Given the description of an element on the screen output the (x, y) to click on. 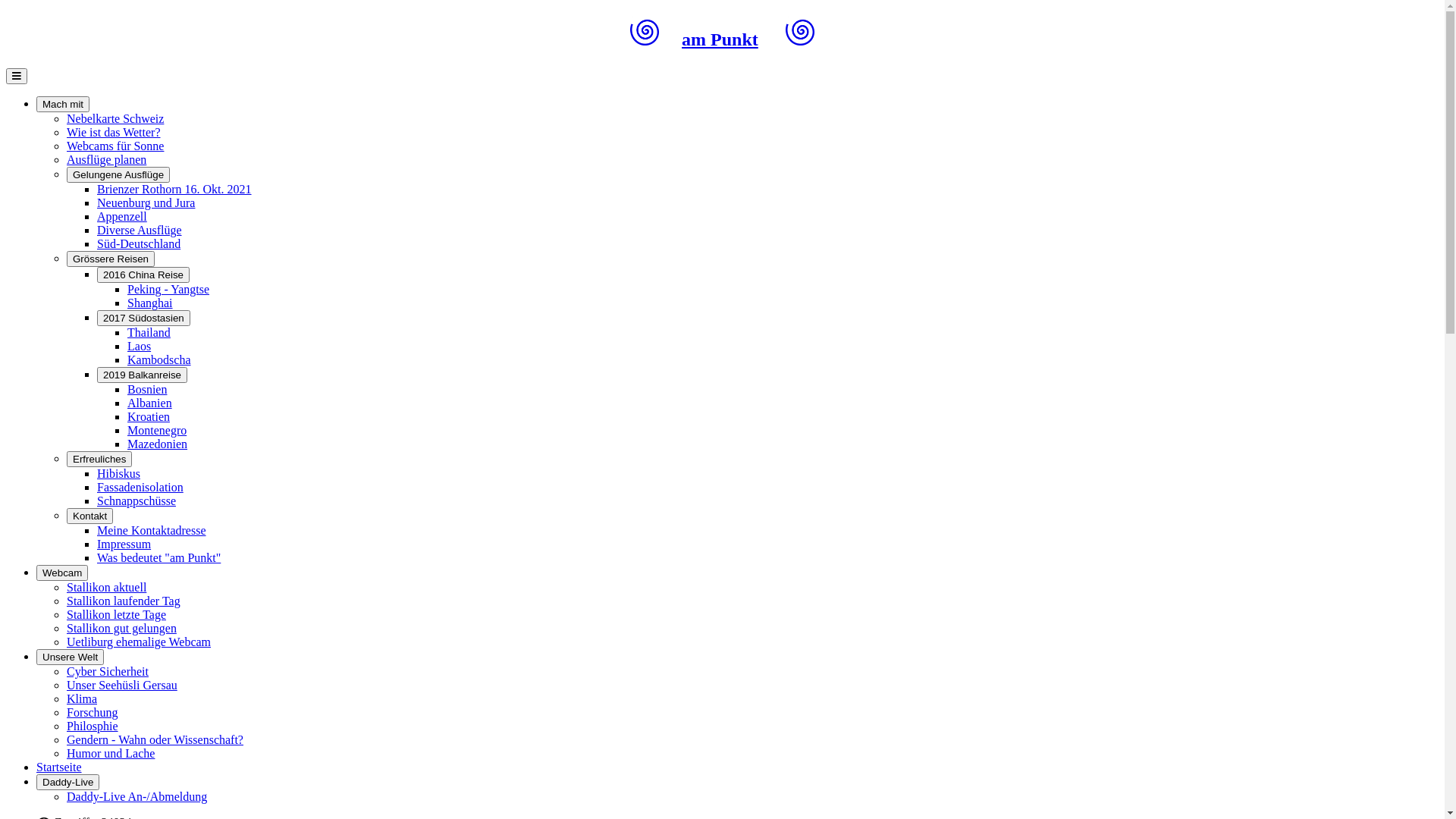
Mach mit Element type: text (62, 104)
Kontakt Element type: text (89, 516)
2019 Balkanreise Element type: text (142, 374)
Forschung Element type: text (92, 712)
Bosnien Element type: text (146, 388)
Erfreuliches Element type: text (98, 459)
Impressum Element type: text (123, 543)
Shanghai Element type: text (149, 302)
Daddy-Live An-/Abmeldung Element type: text (136, 796)
Peking - Yangtse Element type: text (168, 288)
Was bedeutet "am Punkt" Element type: text (158, 557)
Thailand Element type: text (148, 332)
Nebelkarte Schweiz Element type: text (114, 118)
2016 China Reise Element type: text (143, 274)
Klima Element type: text (81, 698)
Startseite Element type: text (58, 766)
Unsere Welt Element type: text (69, 657)
Brienzer Rothorn 16. Okt. 2021 Element type: text (174, 188)
Stallikon aktuell Element type: text (106, 586)
Kroatien Element type: text (148, 416)
am Punkt Element type: text (719, 39)
Albanien Element type: text (149, 402)
Daddy-Live Element type: text (67, 782)
Cyber Sicherheit Element type: text (107, 671)
Humor und Lache Element type: text (110, 752)
Wie ist das Wetter? Element type: text (113, 131)
Neuenburg und Jura Element type: text (145, 202)
Appenzell Element type: text (122, 216)
Stallikon laufender Tag Element type: text (123, 600)
Gendern - Wahn oder Wissenschaft? Element type: text (154, 739)
Philosphie Element type: text (92, 725)
Stallikon letzte Tage Element type: text (116, 614)
Meine Kontaktadresse Element type: text (151, 530)
Webcam Element type: text (61, 572)
Stallikon gut gelungen Element type: text (121, 627)
Kambodscha Element type: text (159, 359)
Uetliburg ehemalige Webcam Element type: text (138, 641)
Mazedonien Element type: text (157, 443)
Laos Element type: text (138, 345)
Hibiskus Element type: text (118, 473)
Montenegro Element type: text (156, 429)
Fassadenisolation Element type: text (140, 486)
